Given the description of an element on the screen output the (x, y) to click on. 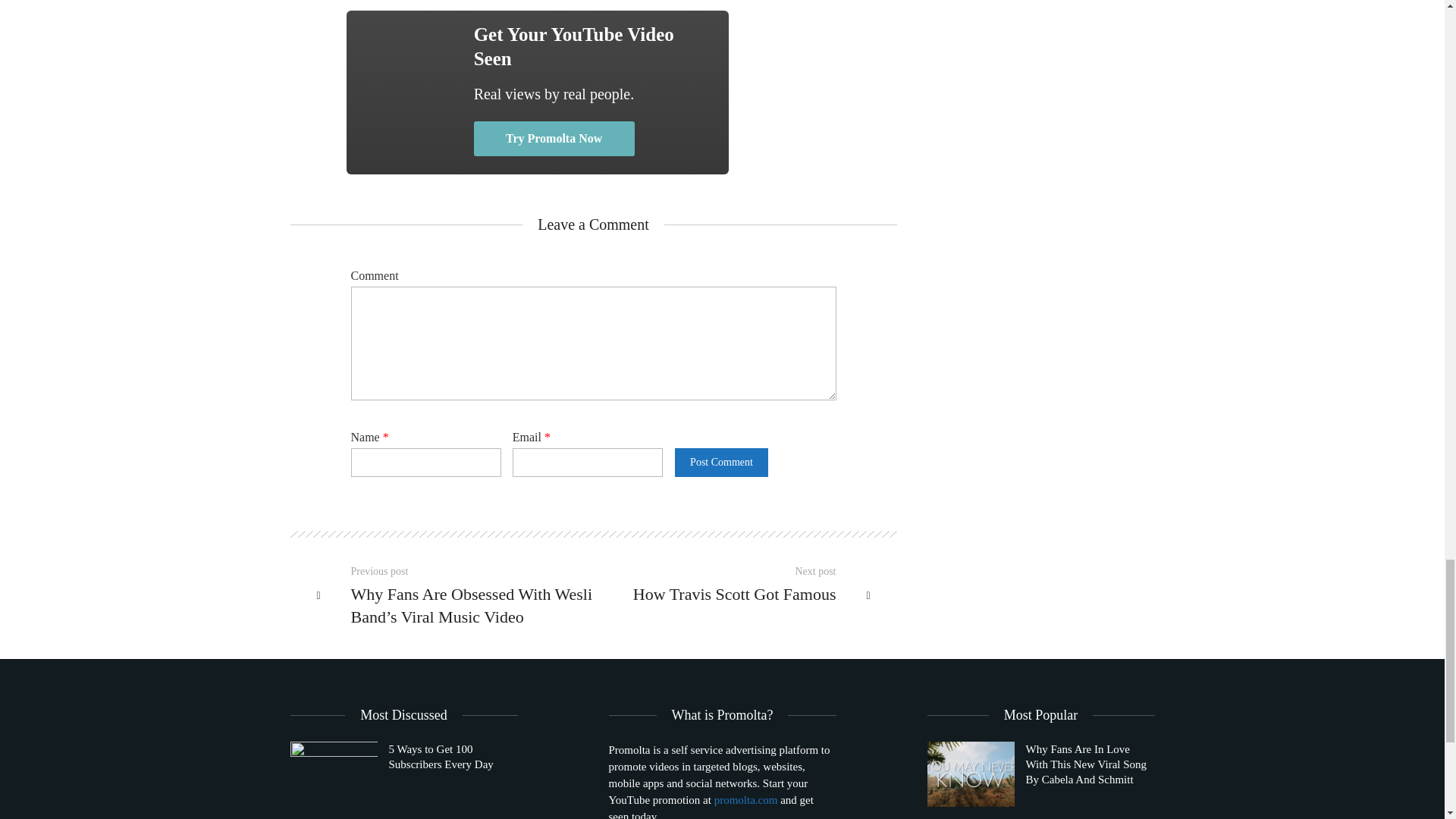
promolta.com (745, 799)
Try Promolta Now (554, 138)
5 Ways to Get 100 Subscribers Every Day (333, 774)
Post Comment (721, 462)
Try Promolta Now (554, 138)
How Travis Scott Got Famous (722, 593)
5 Ways to Get 100 Subscribers Every Day (402, 774)
How to Get Your Music Picked for a Commercial (409, 85)
Post Comment (721, 462)
